Given the description of an element on the screen output the (x, y) to click on. 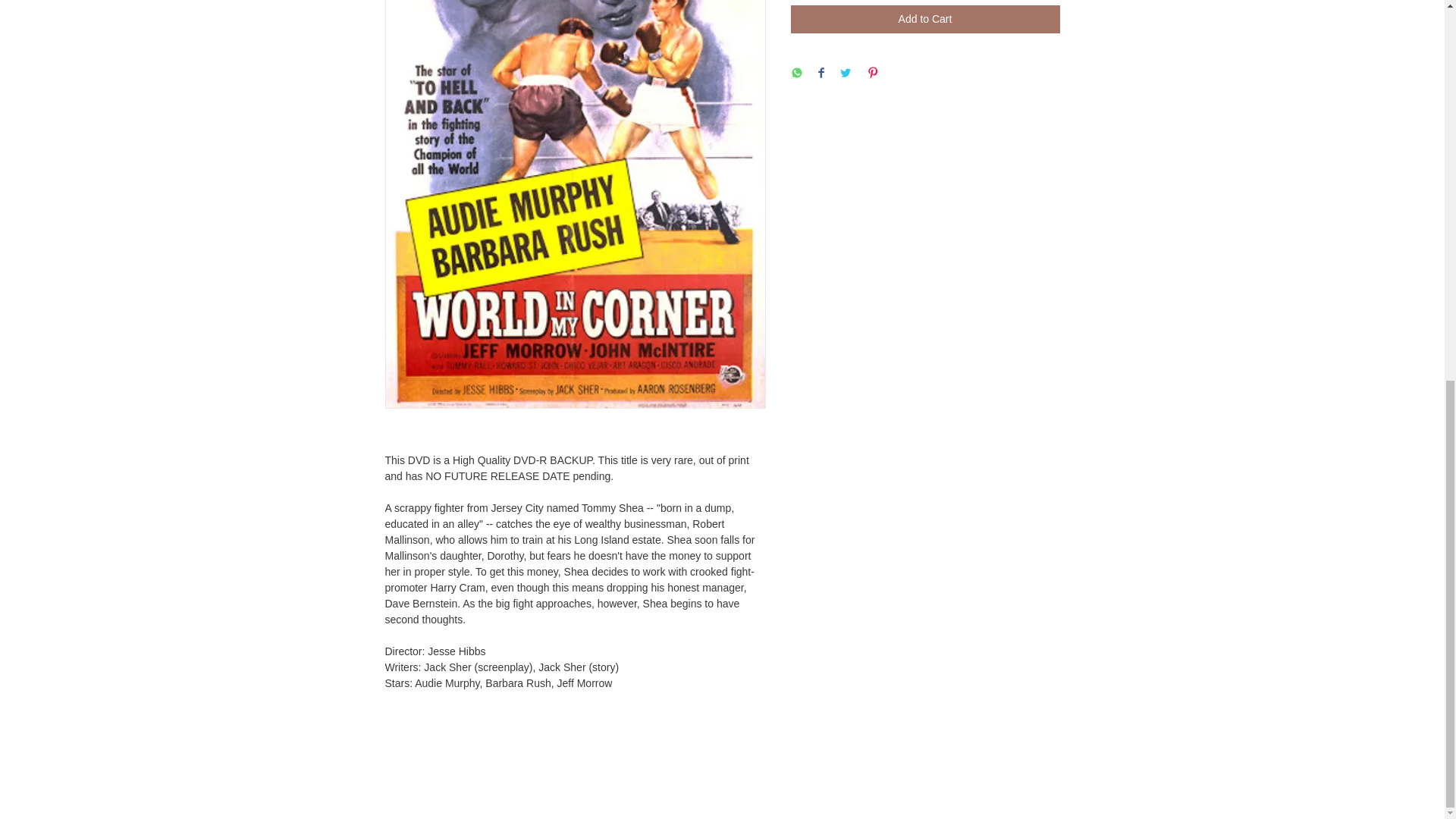
Add to Cart (924, 18)
